Given the description of an element on the screen output the (x, y) to click on. 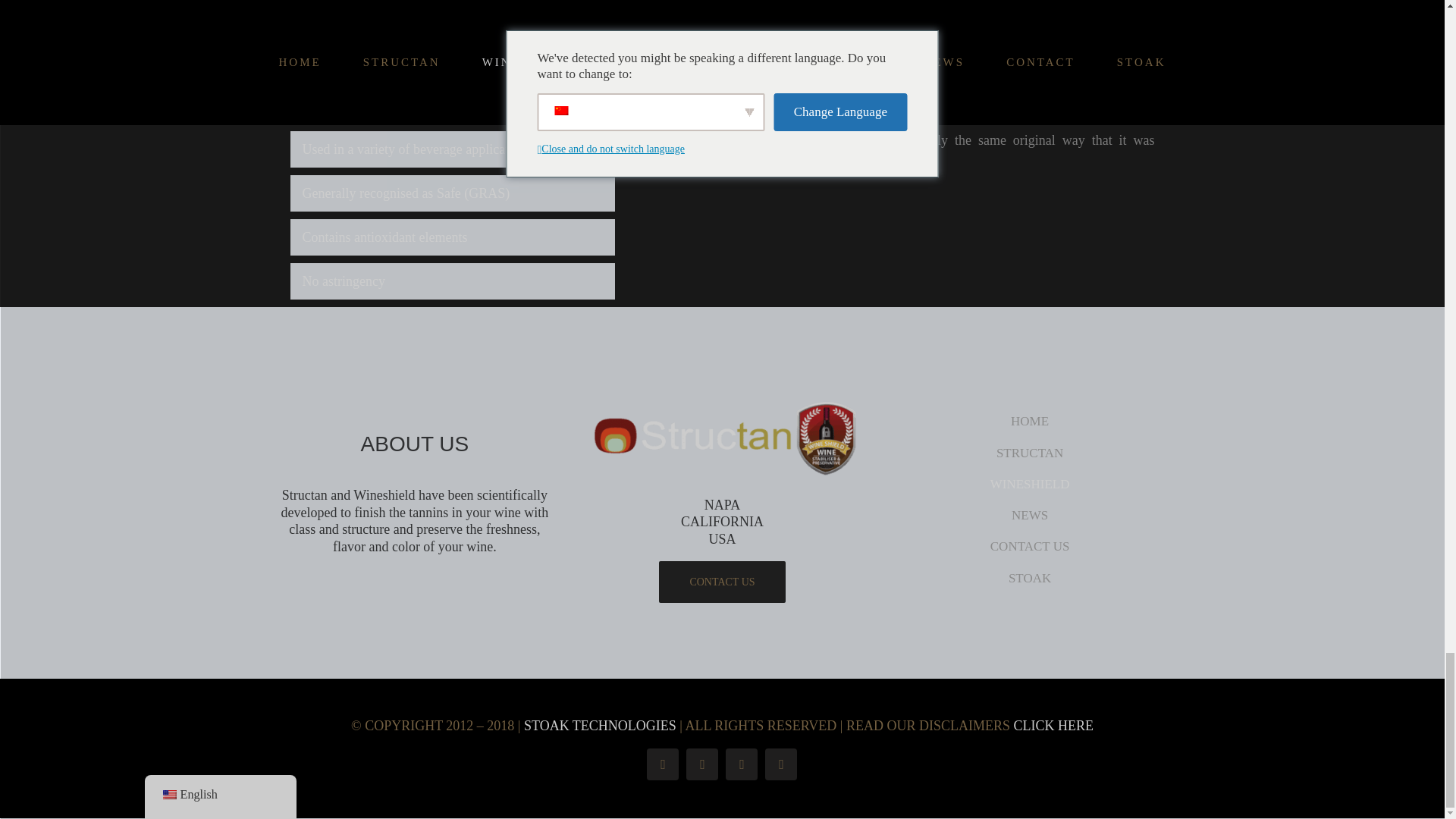
CONTACT US (1029, 546)
STOAK (1029, 578)
Facebook (662, 764)
Instagram (701, 764)
STRUCTAN (1029, 453)
WhatsApp (780, 764)
HOME (1029, 421)
STOAK TECHNOLOGIES (600, 725)
WINESHIELD (1029, 483)
CLICK HERE (1053, 725)
CONTACT US (721, 581)
NEWS (1029, 514)
Structan-web-logoLRG (722, 439)
YouTube (741, 764)
